Given the description of an element on the screen output the (x, y) to click on. 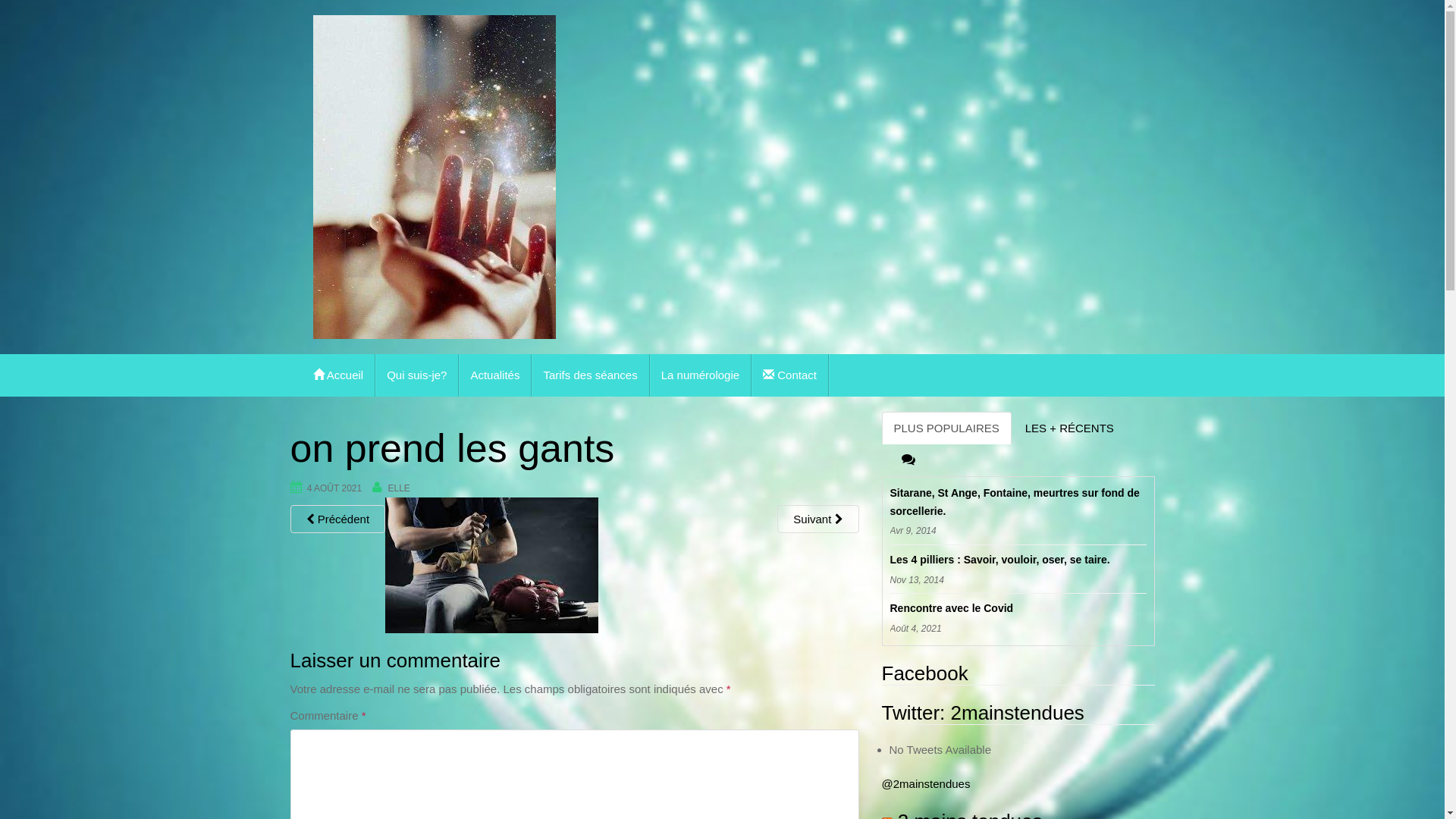
ELLE Element type: text (399, 488)
Rencontre avec le Covid Element type: text (1018, 608)
 Accueil Element type: text (338, 375)
Suivant Element type: text (817, 519)
Les 4 pilliers : Savoir, vouloir, oser, se taire. Element type: text (1018, 560)
@2mainstendues Element type: text (925, 783)
Qui suis-je? Element type: text (416, 375)
 Contact Element type: text (789, 375)
on prend les gants Element type: hover (491, 563)
PLUS POPULAIRES Element type: text (945, 427)
